Given the description of an element on the screen output the (x, y) to click on. 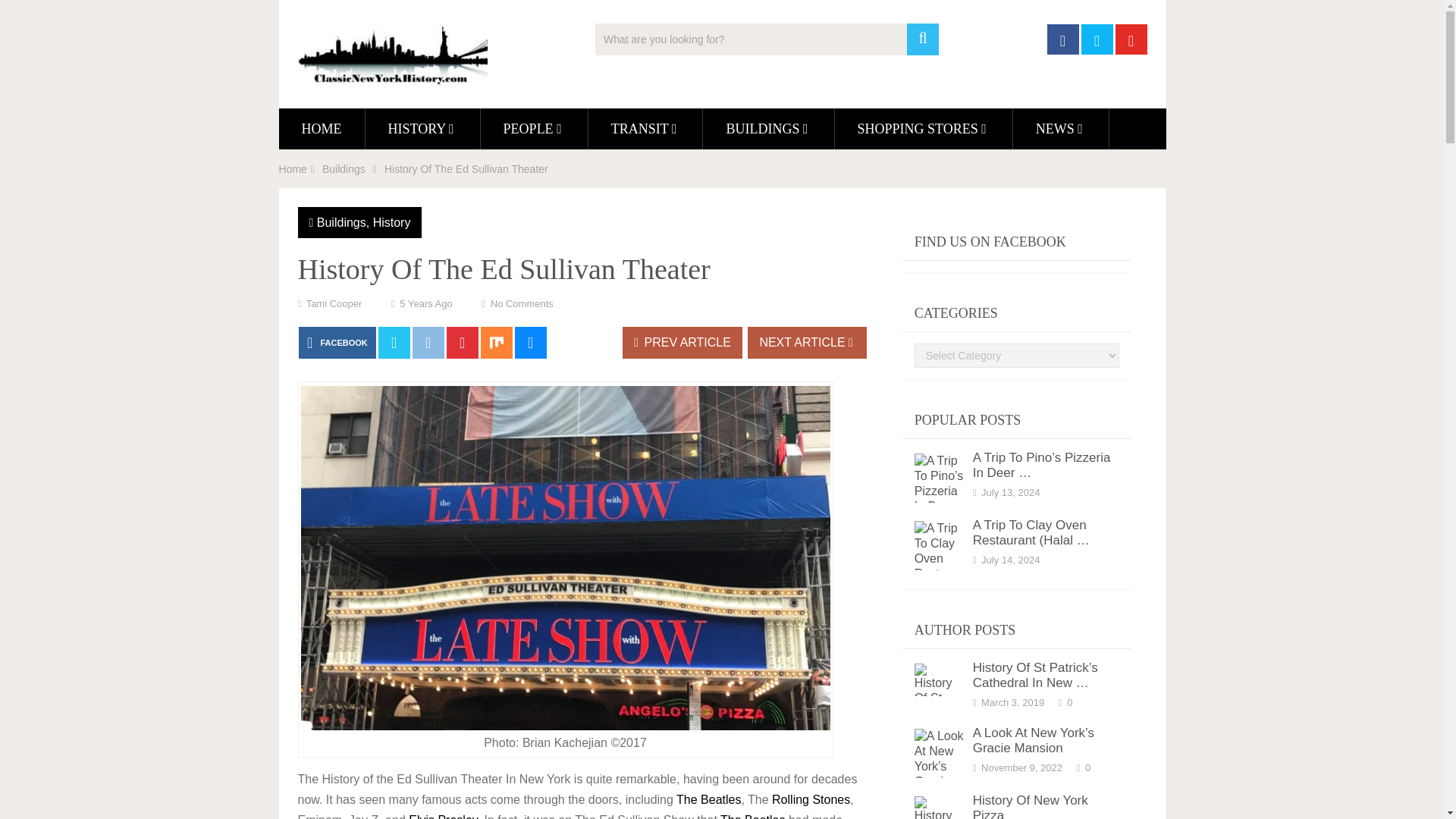
NEWS (1060, 128)
Buildings (341, 222)
Elvis Presley (443, 816)
BUILDINGS (767, 128)
Posts by Tami Cooper (333, 303)
NEXT ARTICLE (807, 342)
History (391, 222)
PEOPLE (534, 128)
TRANSIT (645, 128)
View all posts in History (391, 222)
